Given the description of an element on the screen output the (x, y) to click on. 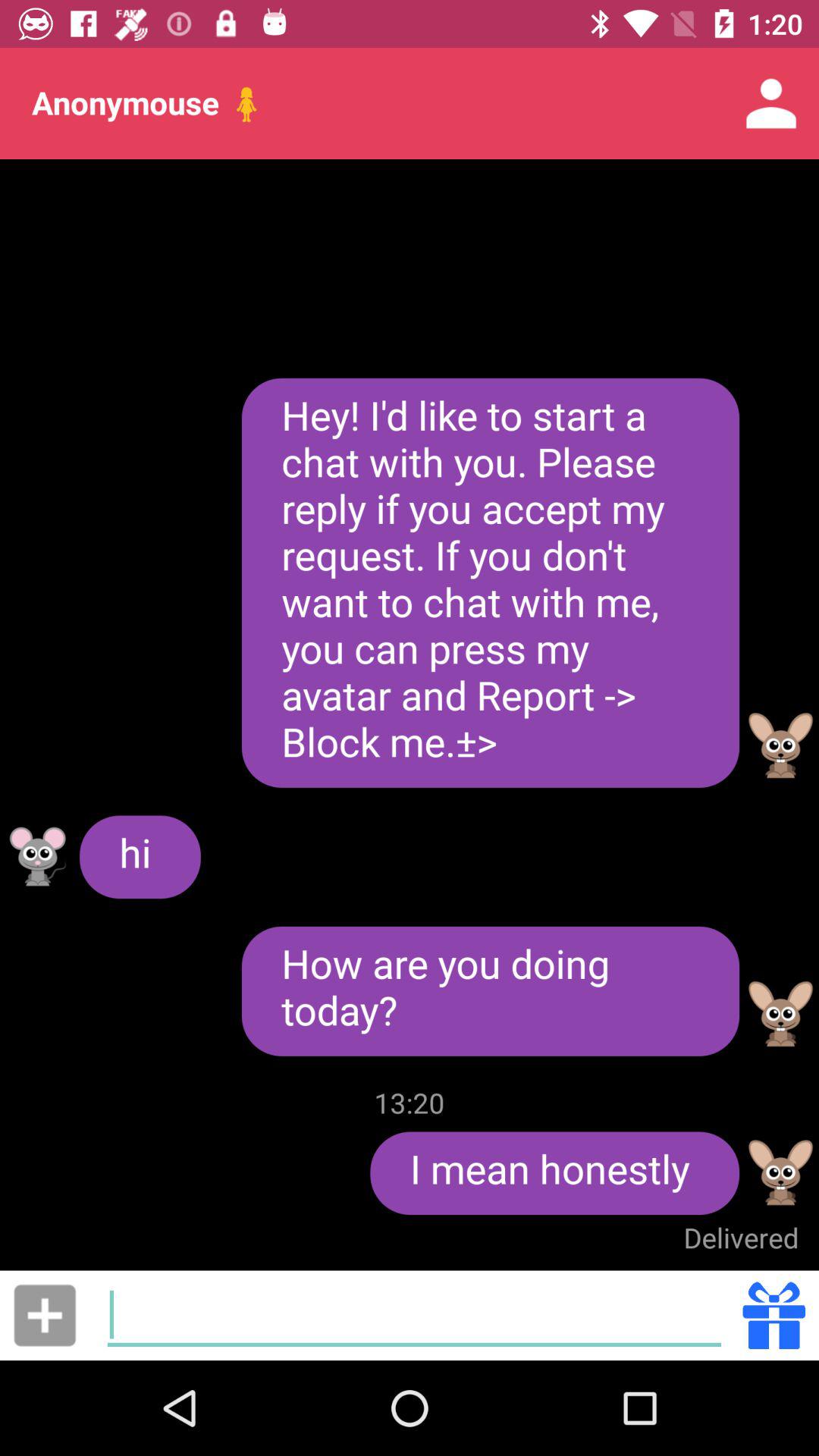
go to send (774, 1315)
